Given the description of an element on the screen output the (x, y) to click on. 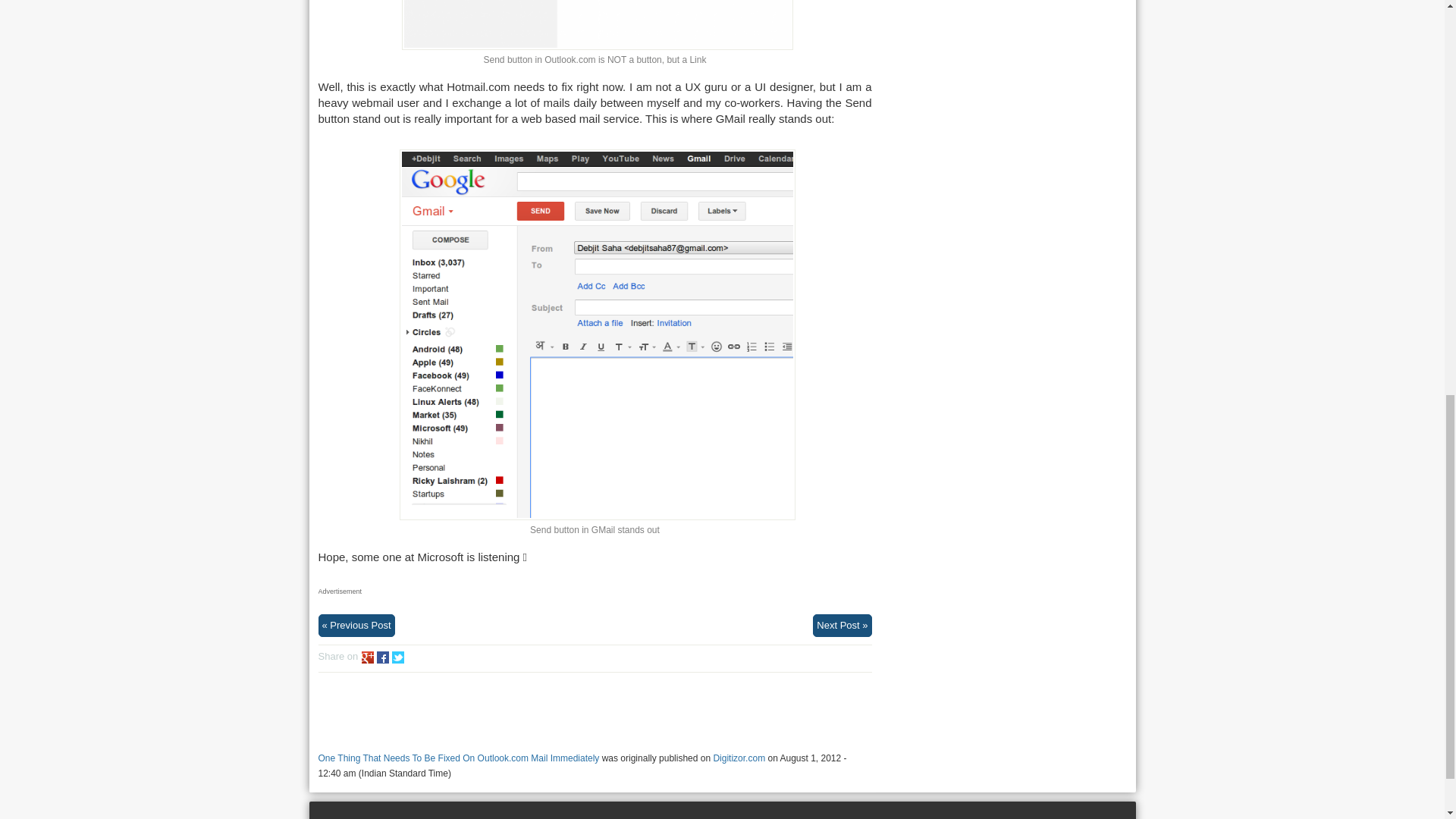
share on fb (382, 657)
share on gp (367, 657)
share this post on Facebook (382, 657)
Digitizor.com (739, 757)
share on tw (397, 657)
share this post on Twitter (397, 657)
Send button in Outlook.com is NOT a button, but a Link (597, 24)
